Given the description of an element on the screen output the (x, y) to click on. 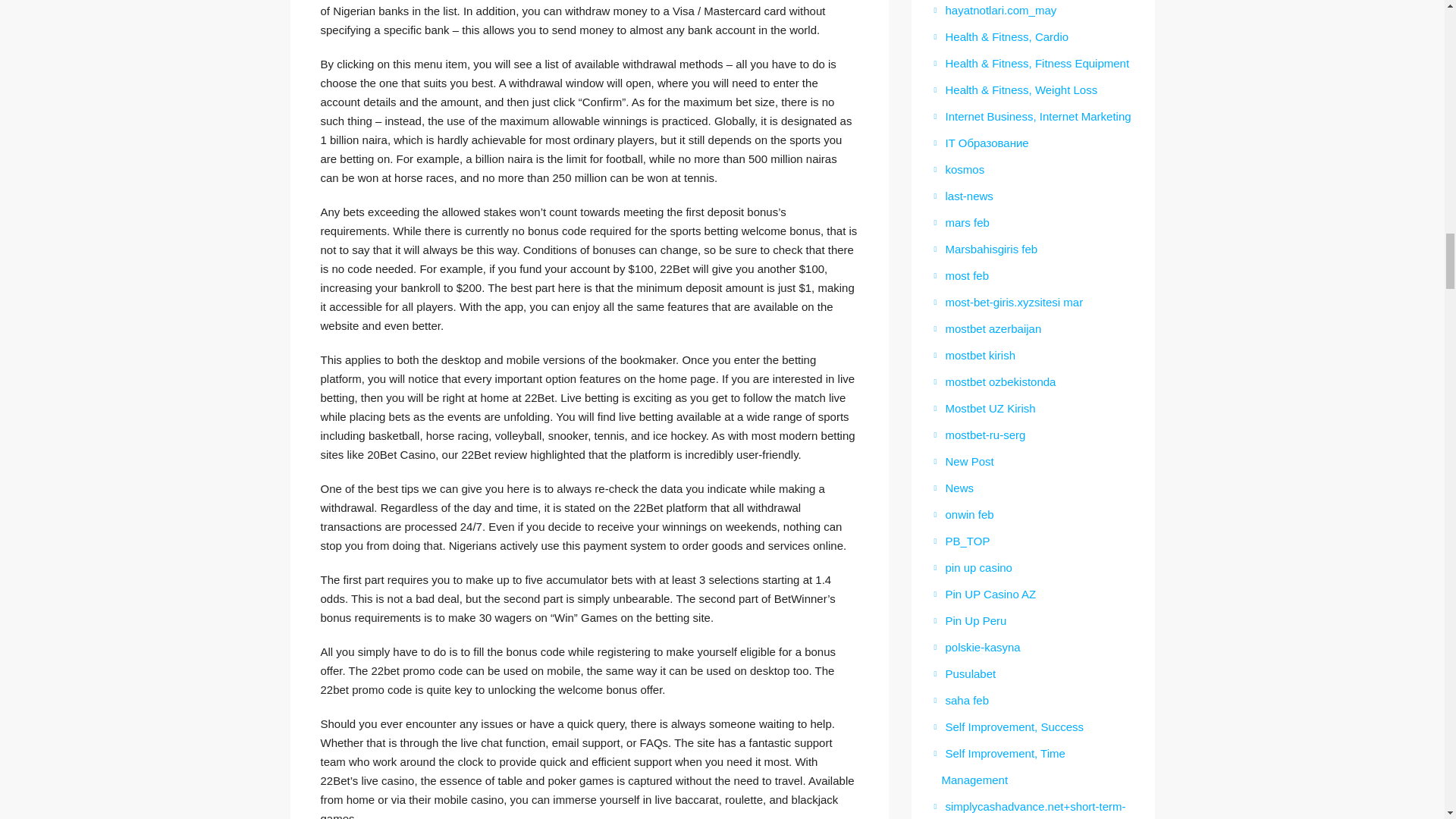
Internet Business, Internet Marketing (1032, 115)
Self Improvement, Time Management (999, 766)
Self Improvement, Success (1009, 726)
